Given the description of an element on the screen output the (x, y) to click on. 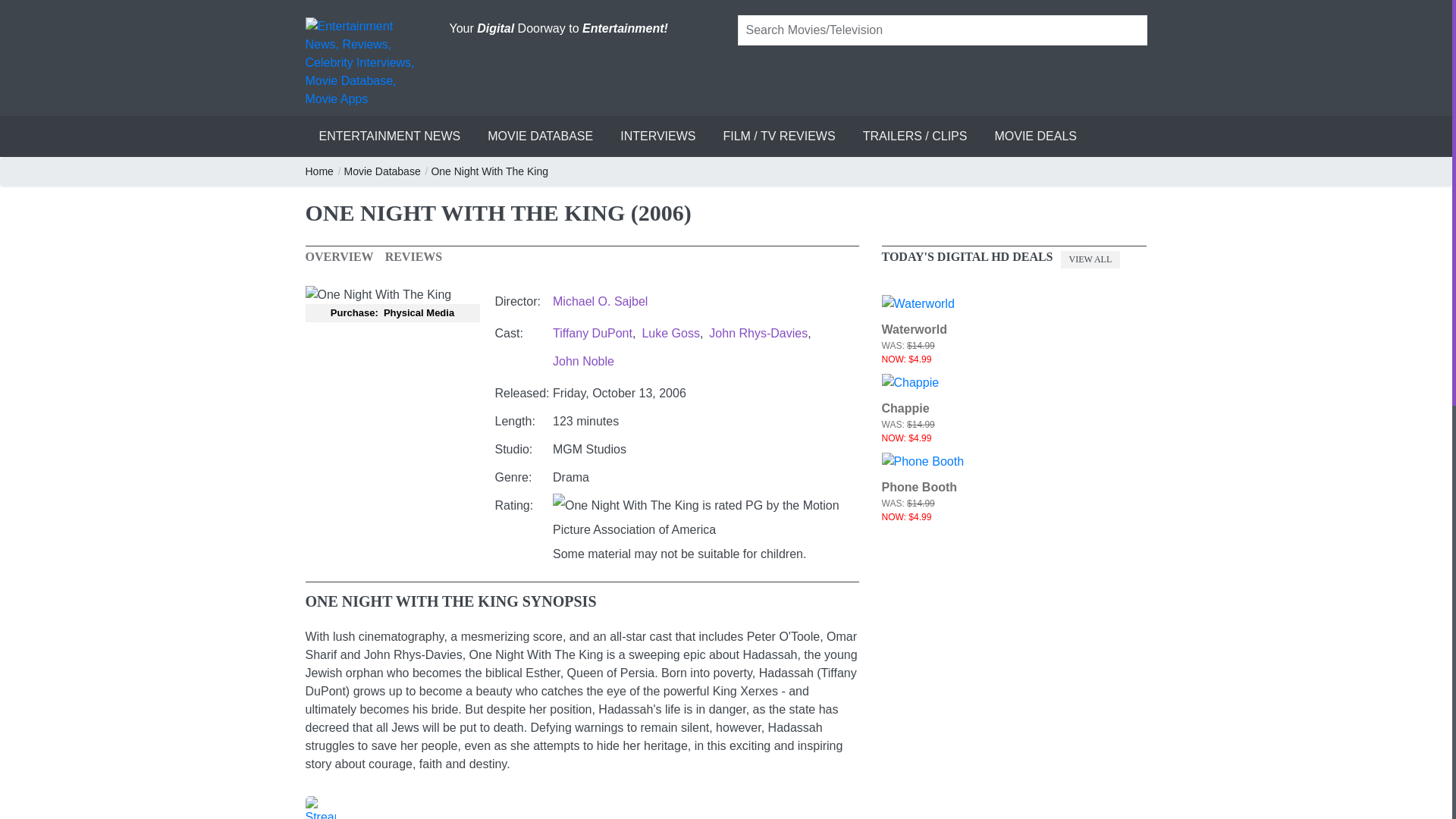
Tiffany DuPont (592, 332)
Movie Database (382, 171)
Movie Deals (1034, 136)
INTERVIEWS (658, 136)
Purchase One Night With The King on Physical Media (392, 312)
Overview of One Night With The King (338, 256)
REVIEWS (413, 256)
Michael O. Sajbel (600, 300)
ENTERTAINMENT NEWS (389, 136)
Home (319, 171)
MOVIE DATABASE (540, 136)
One Night With The King (490, 171)
MOVIE DEALS (1034, 136)
OVERVIEW (338, 256)
